Given the description of an element on the screen output the (x, y) to click on. 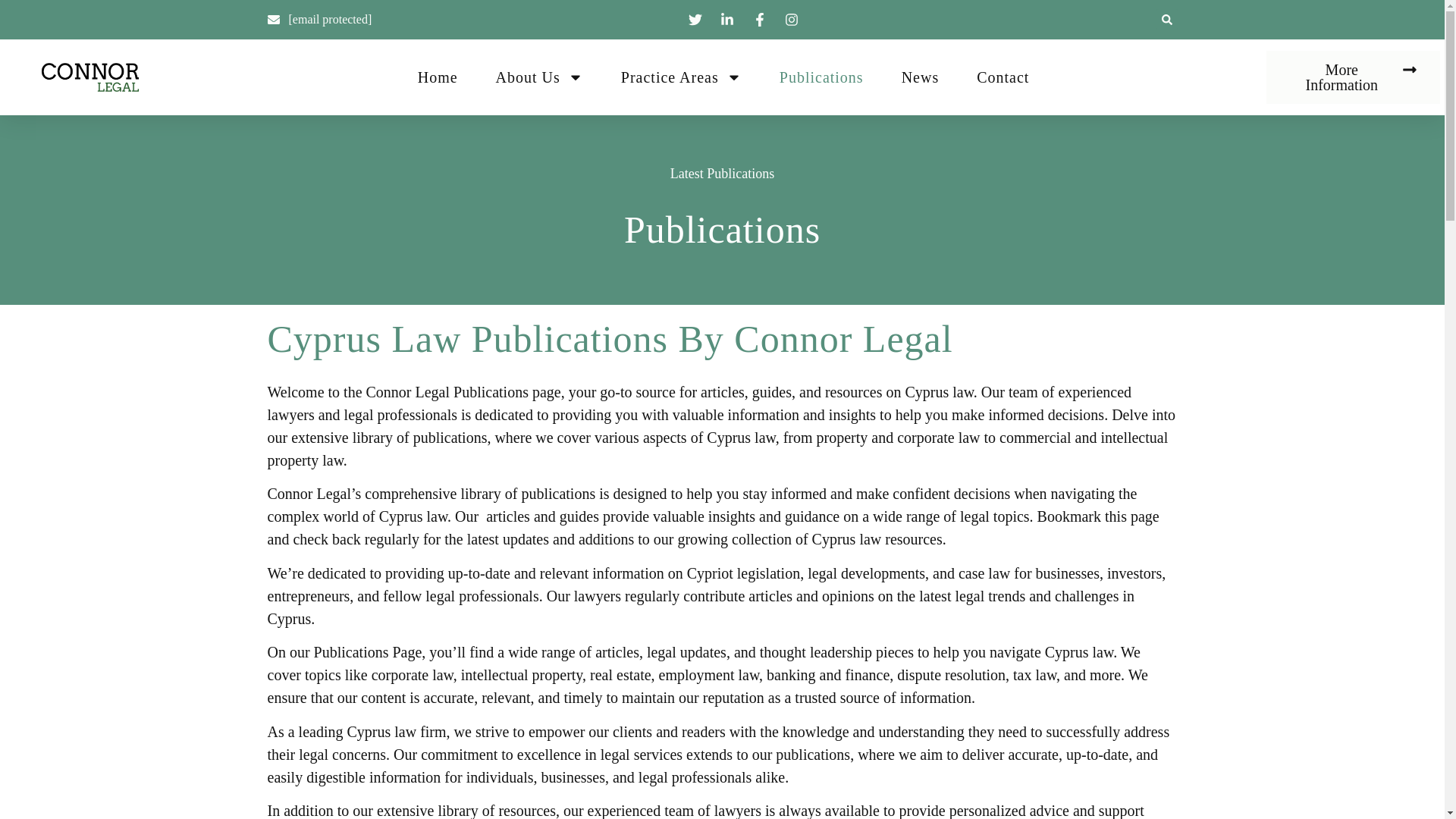
Publications (820, 76)
News (920, 76)
About Us (539, 76)
Home (437, 76)
Contact (1002, 76)
Practice Areas (681, 76)
